Given the description of an element on the screen output the (x, y) to click on. 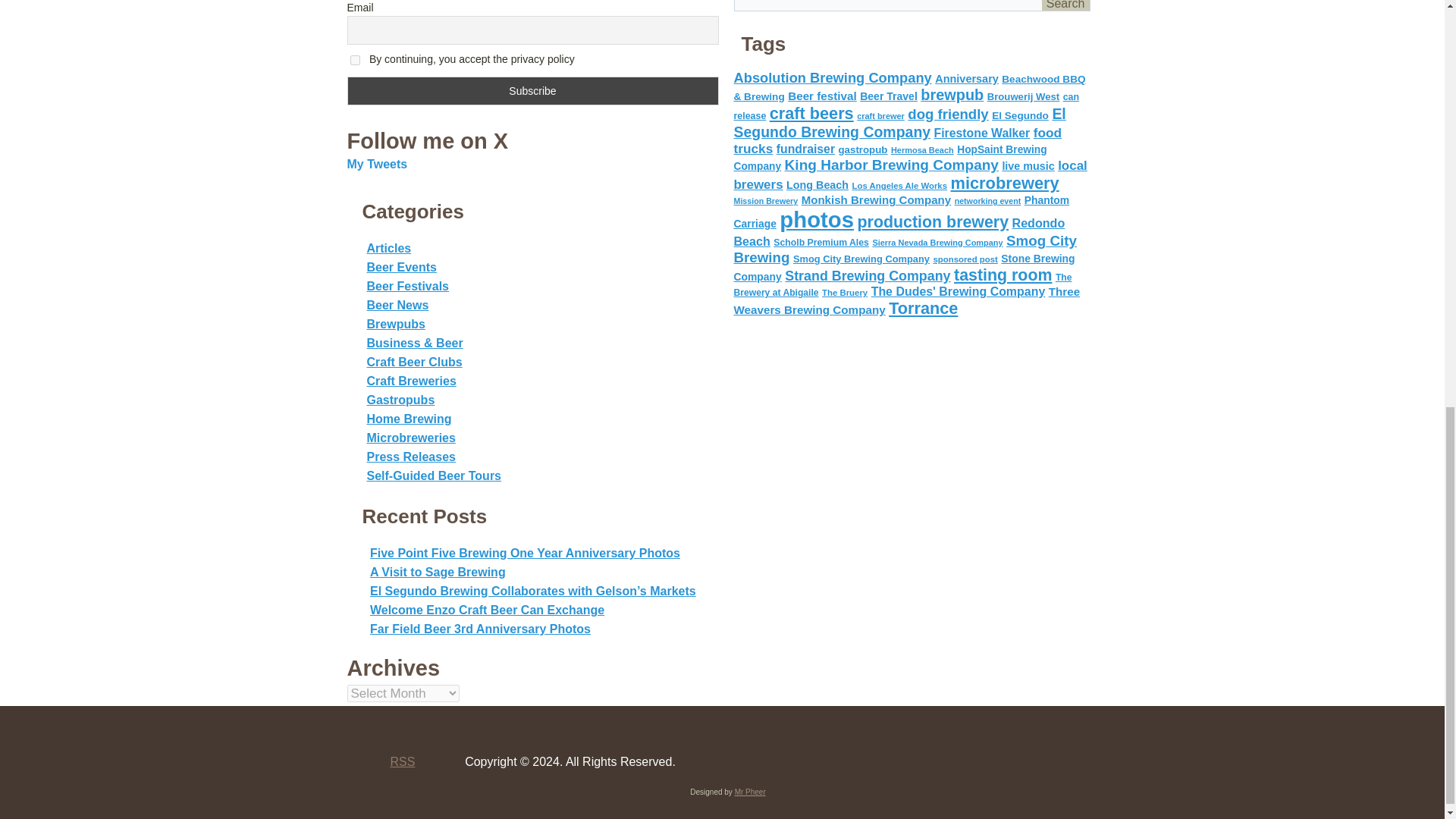
Search (1065, 5)
Subscribe (533, 90)
Search (1065, 5)
on (354, 60)
